Given the description of an element on the screen output the (x, y) to click on. 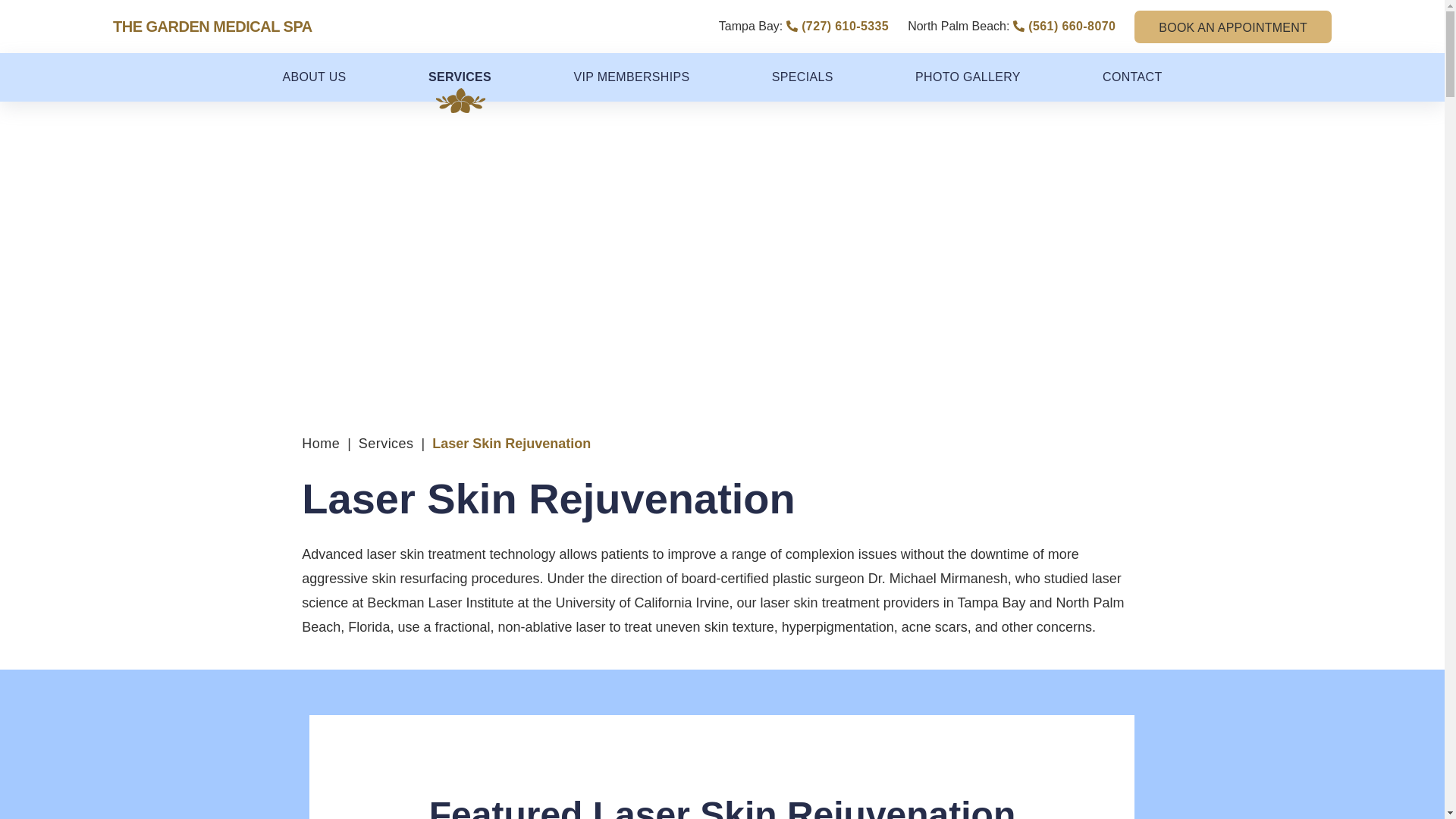
CONTACT (1131, 77)
THE GARDEN MEDICAL SPA (213, 26)
PHOTO GALLERY (967, 77)
BOOK AN APPOINTMENT (1233, 26)
SPECIALS (801, 77)
ABOUT US (314, 77)
VIP MEMBERSHIPS (630, 77)
Go to Services. (385, 443)
SERVICES (460, 77)
